Given the description of an element on the screen output the (x, y) to click on. 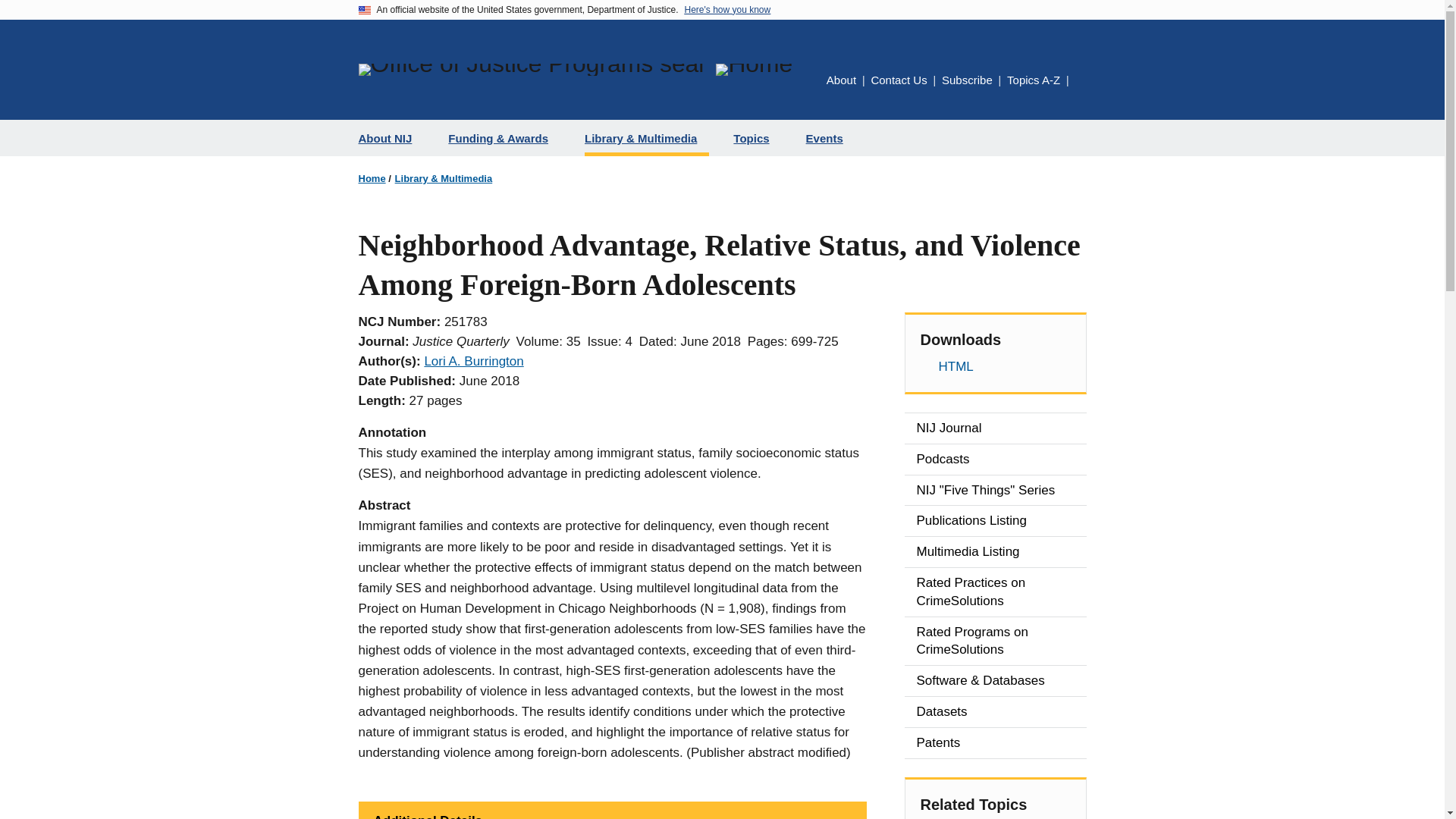
Rated Programs on CrimeSolutions (995, 641)
Home (754, 69)
Additional Details (612, 810)
Podcasts (995, 459)
Home (371, 178)
About NIJ (390, 138)
About (841, 79)
Events (830, 138)
Topics (756, 138)
Choose a social sharing platform (1080, 81)
NIJ "Five Things" Series (995, 490)
NIJ Journal (995, 428)
Patents (995, 743)
Rated Practices on CrimeSolutions (995, 592)
Publications Listing (995, 521)
